Given the description of an element on the screen output the (x, y) to click on. 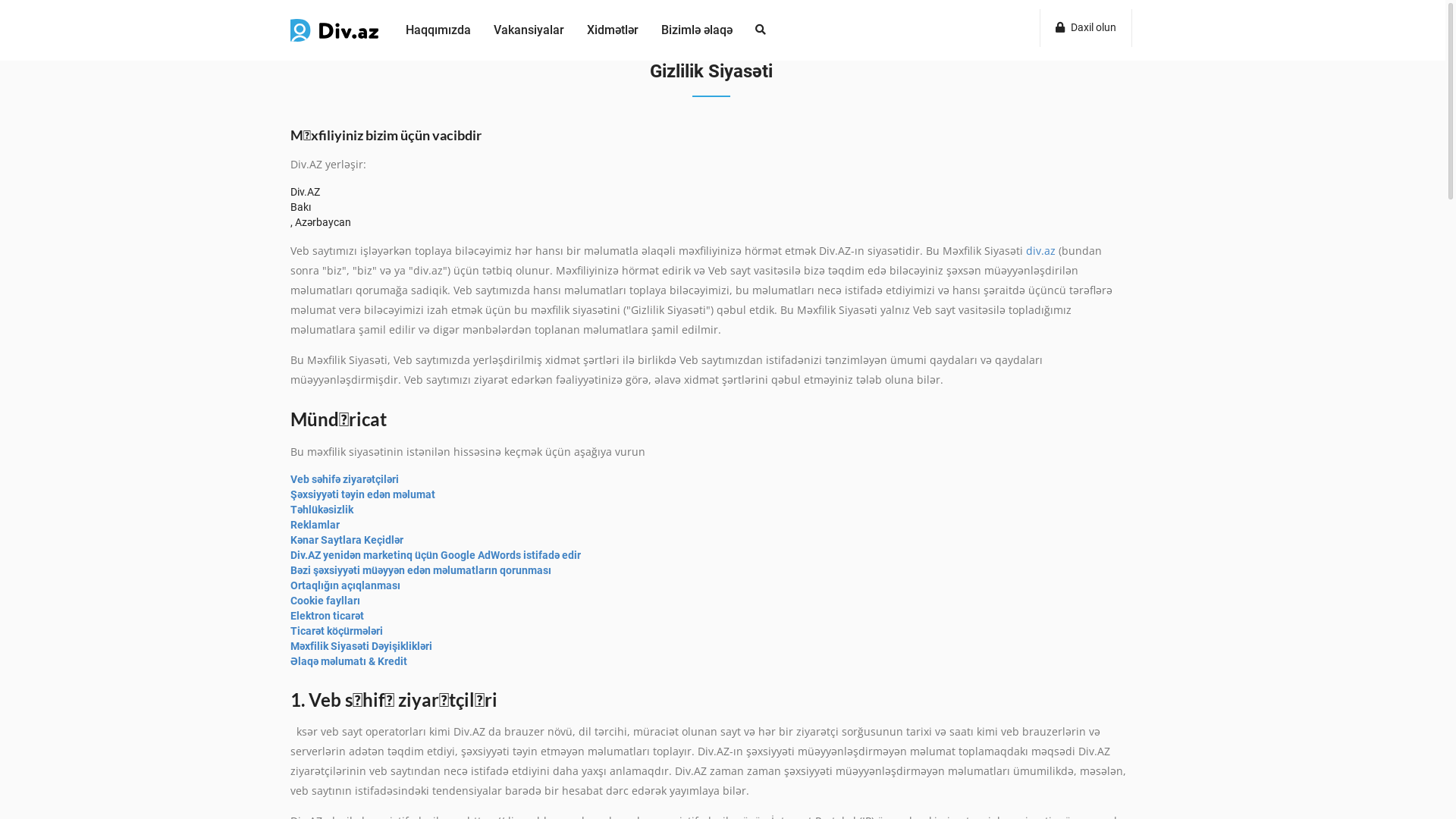
Reklamlar Element type: text (314, 524)
Div.az Element type: text (304, 21)
Daxil olun Element type: text (1085, 27)
div.az Element type: text (1042, 250)
Vakansiyalar Element type: text (528, 30)
